Given the description of an element on the screen output the (x, y) to click on. 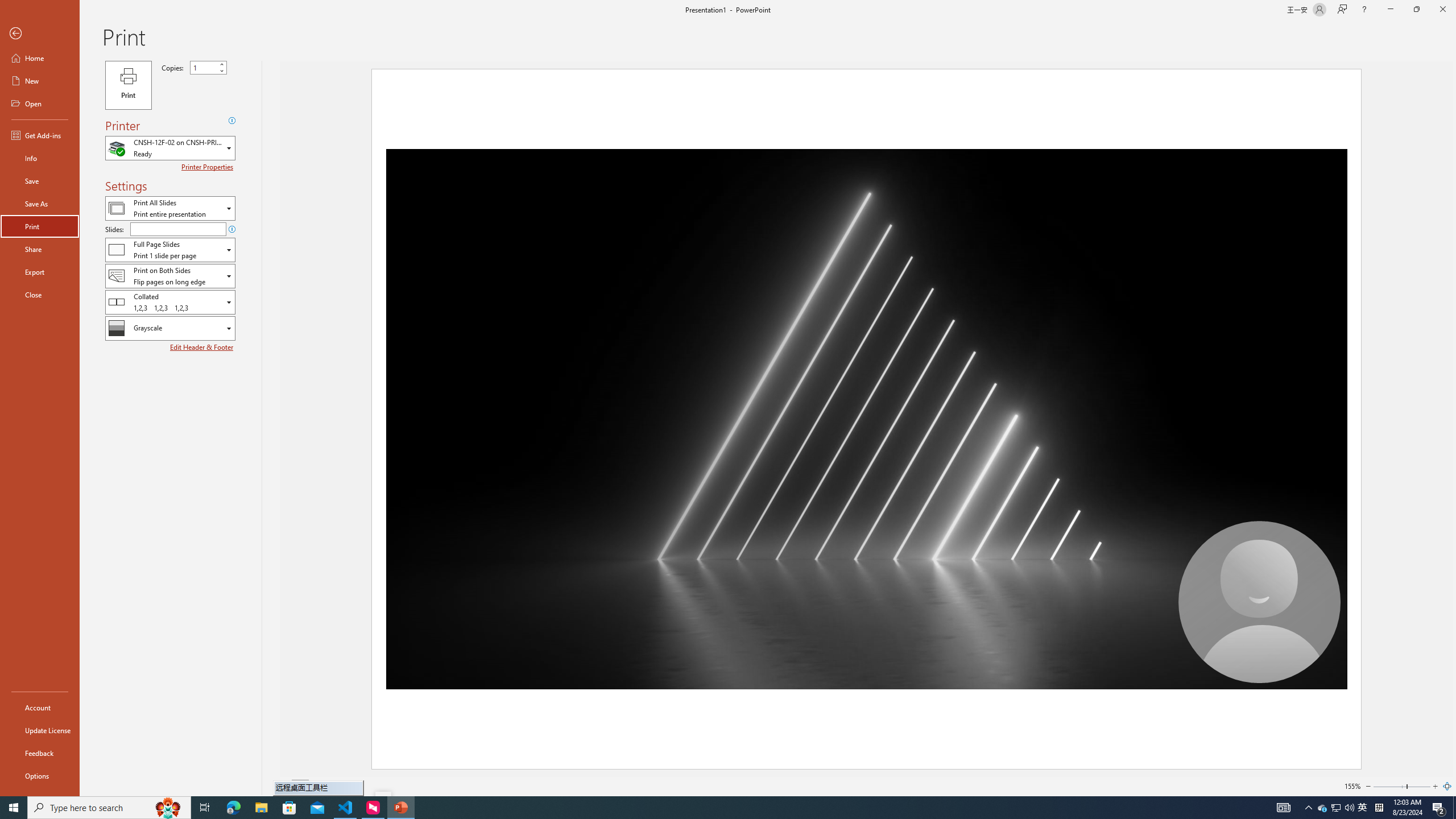
Help (1364, 9)
Options (40, 775)
Save As (40, 203)
Minimize (1390, 9)
